Given the description of an element on the screen output the (x, y) to click on. 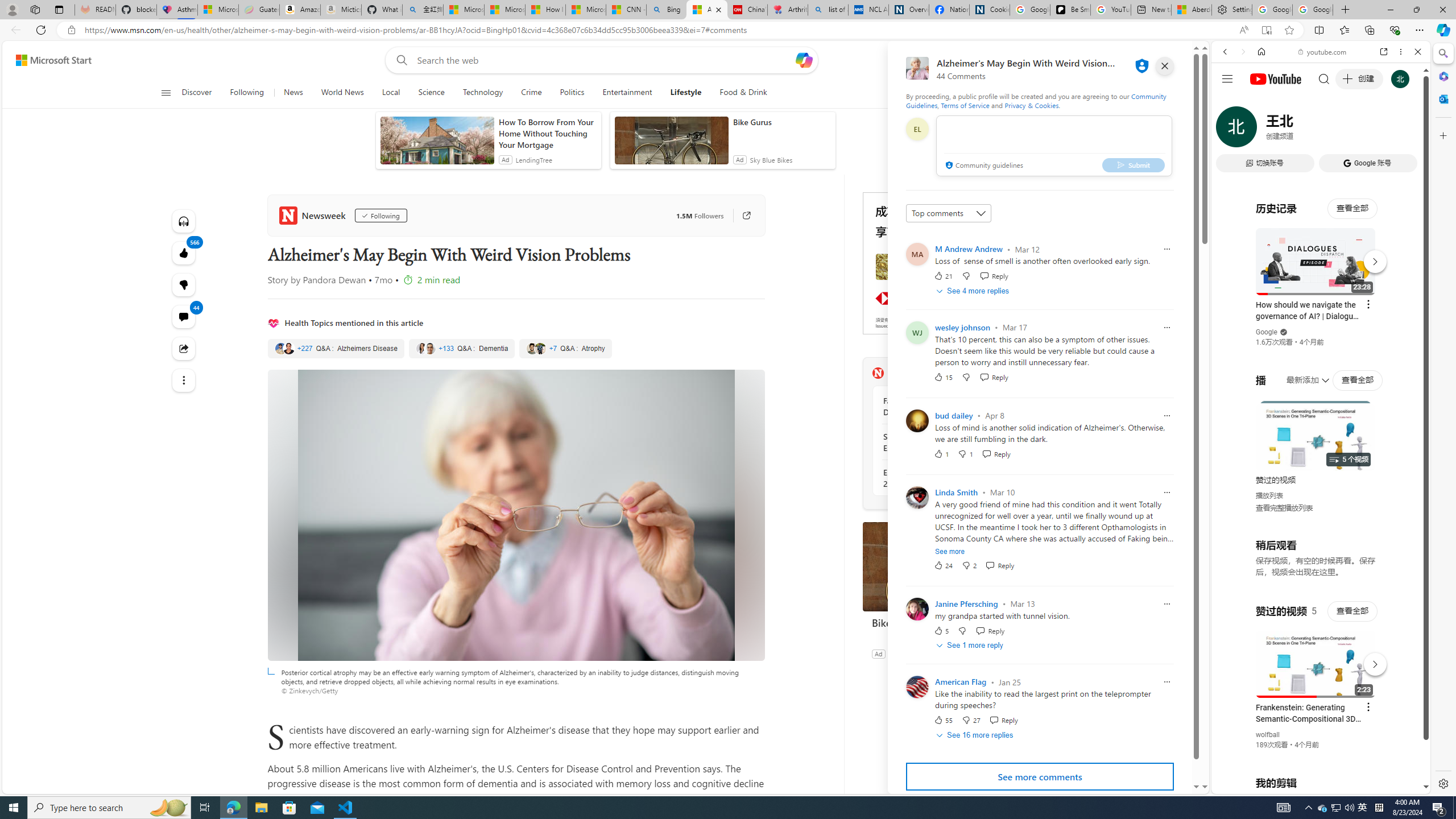
New Tab (1346, 9)
566 Like (183, 252)
Open Copilot (803, 59)
Local (390, 92)
NCL Adult Asthma Inhaler Choice Guideline (868, 9)
Privacy & Cookies (1031, 104)
Report comment (1166, 681)
Crime (531, 92)
This site scope (1259, 102)
LendingTree (533, 159)
YouTube (1315, 655)
Science (431, 92)
Bike Gurus (947, 622)
